Given the description of an element on the screen output the (x, y) to click on. 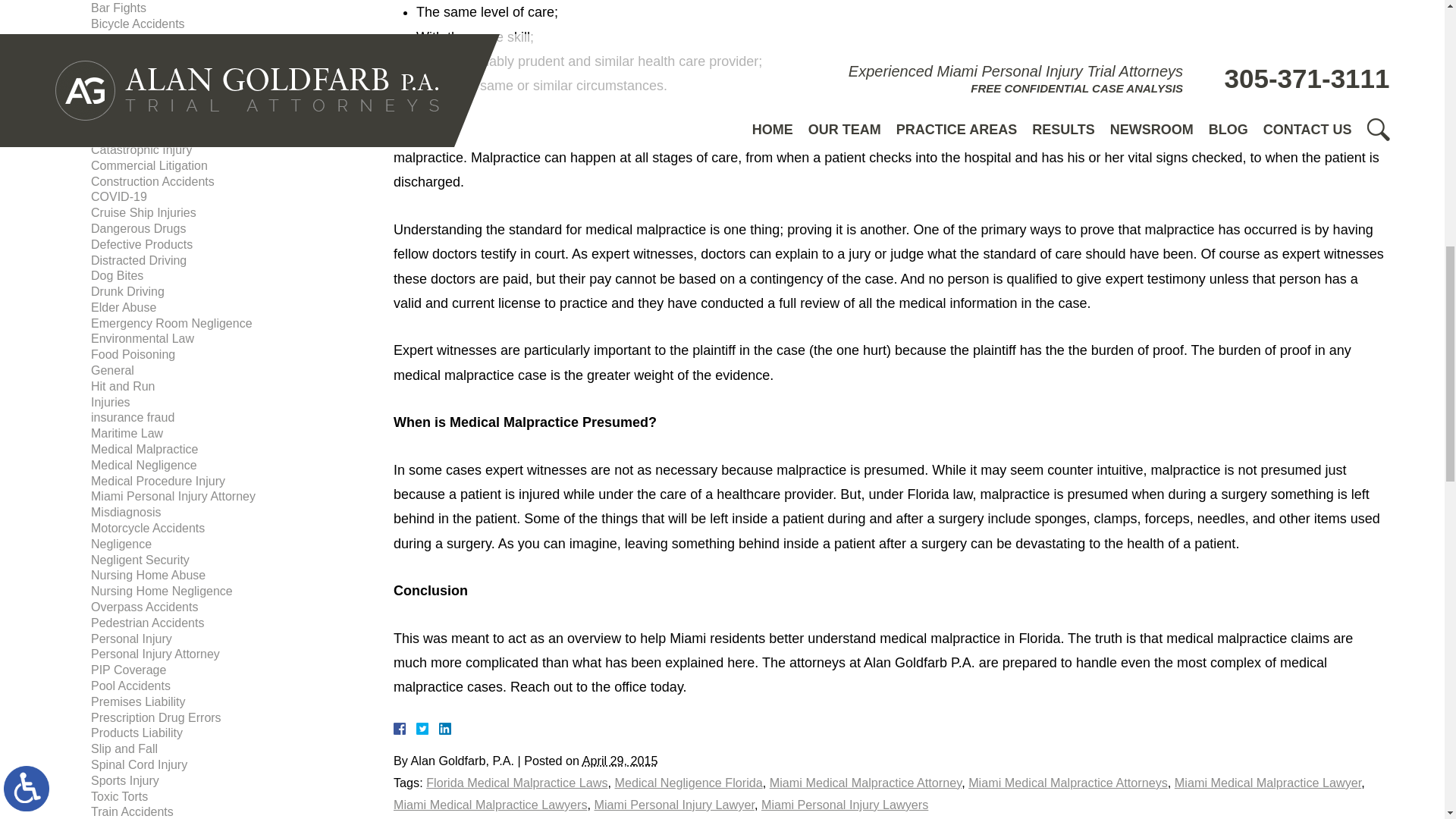
Facebook (417, 728)
Twitter (428, 728)
2015-04-29T06:58:20-0700 (620, 760)
LinkedIn (438, 728)
